Given the description of an element on the screen output the (x, y) to click on. 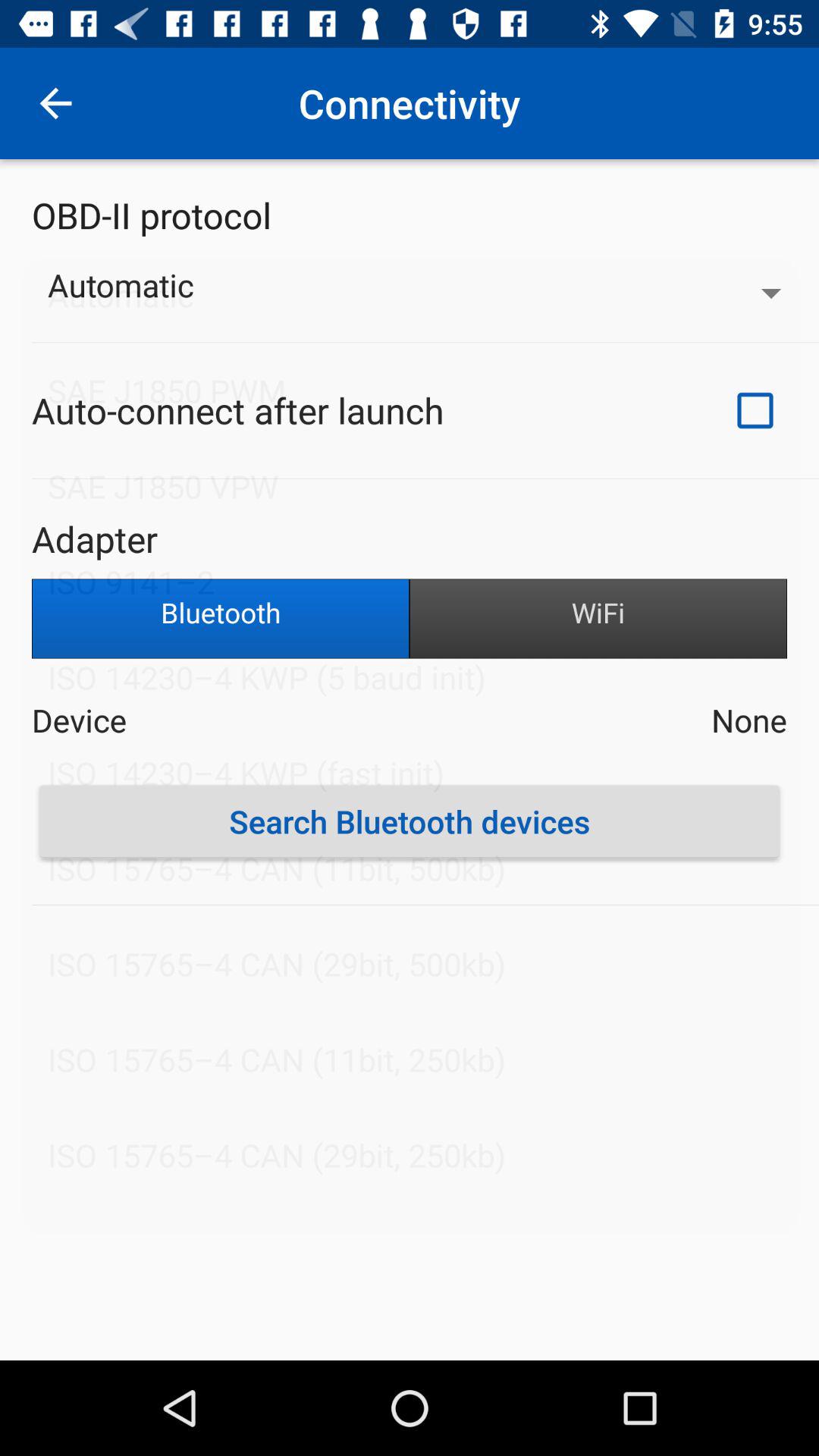
turn on icon to the right of bluetooth item (598, 618)
